Given the description of an element on the screen output the (x, y) to click on. 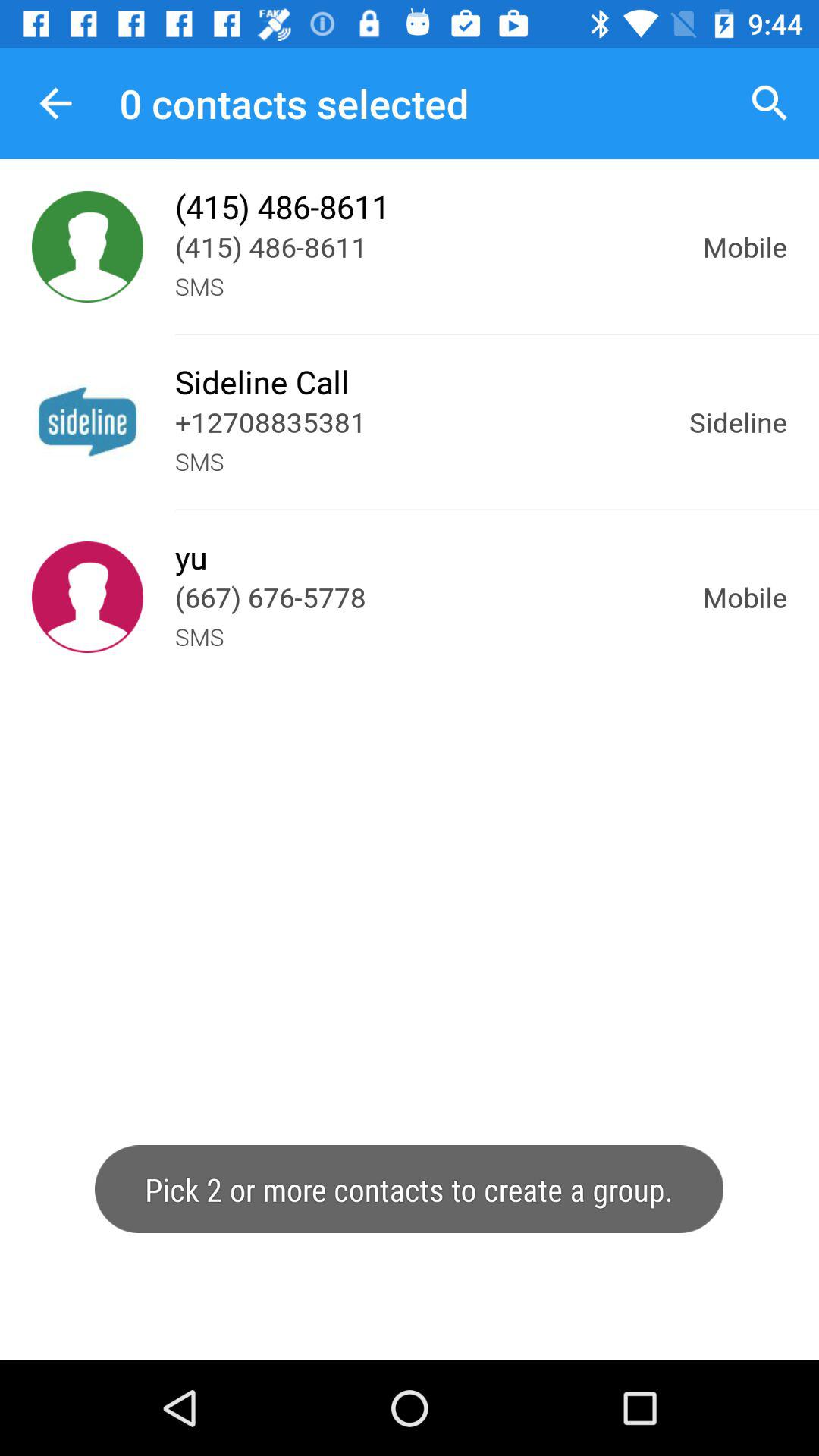
open contact (87, 596)
